Given the description of an element on the screen output the (x, y) to click on. 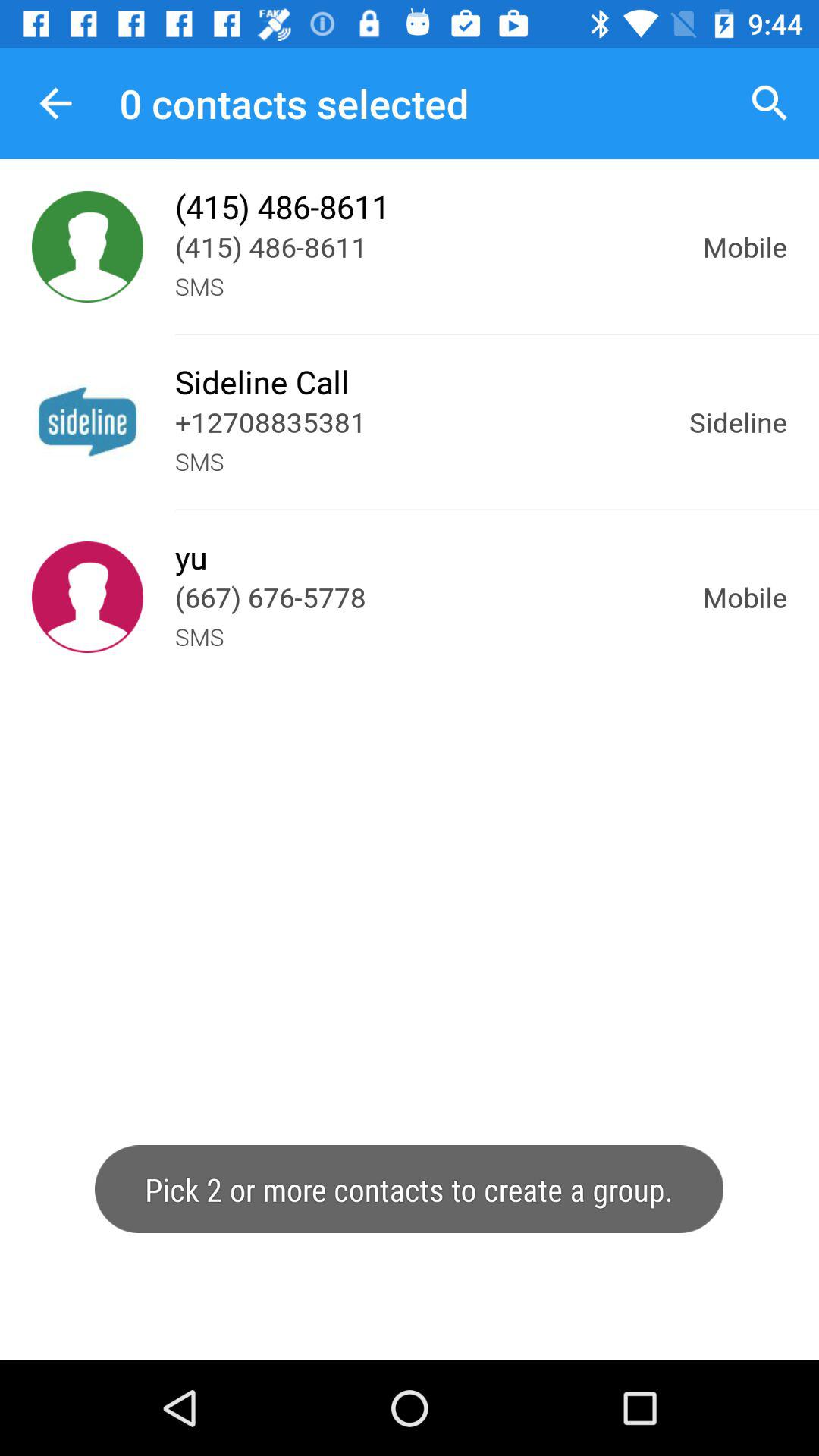
open contact (87, 596)
